Given the description of an element on the screen output the (x, y) to click on. 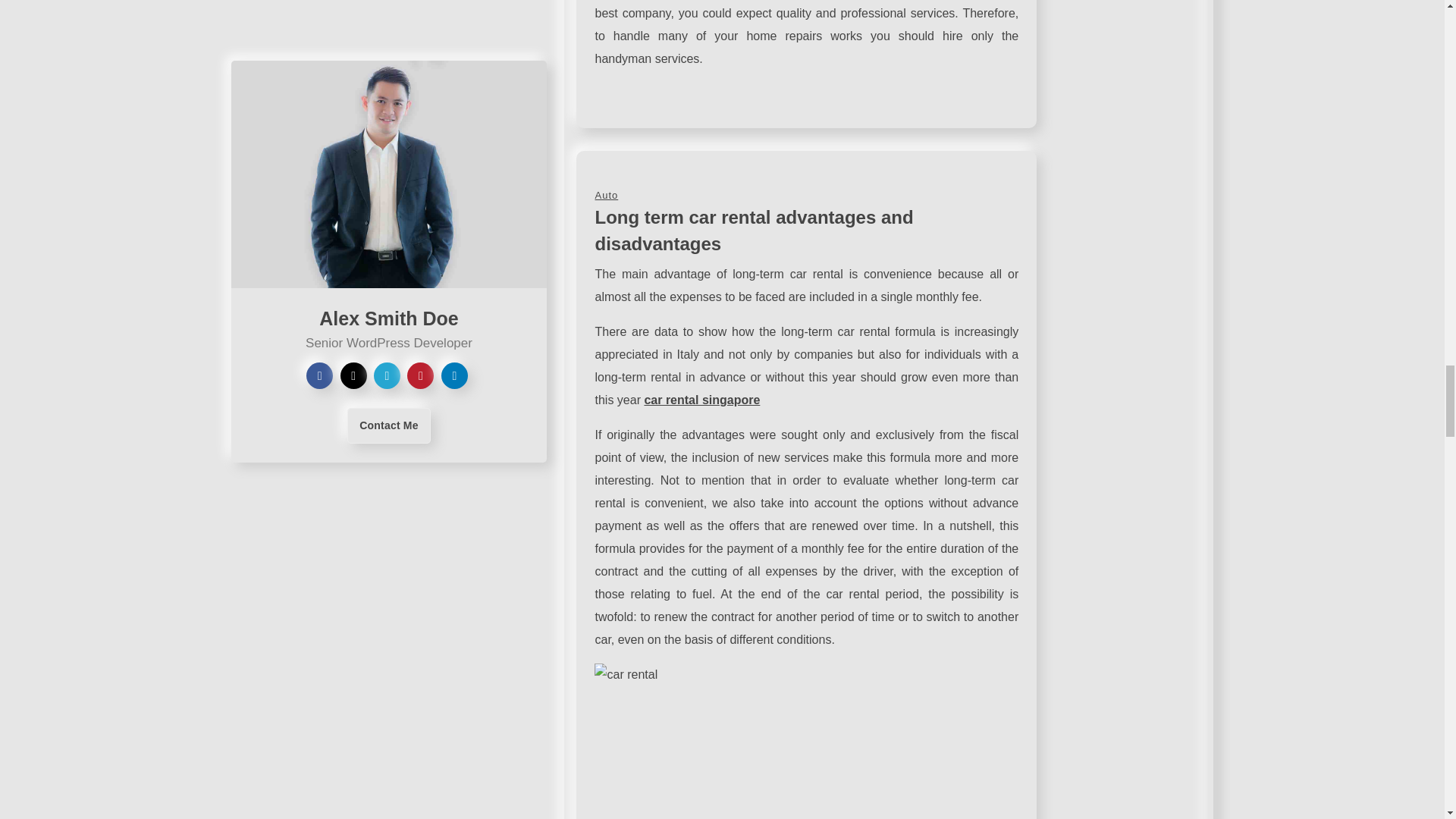
car rental singapore (701, 399)
Auto (605, 194)
Long term car rental advantages and disadvantages (753, 230)
